Given the description of an element on the screen output the (x, y) to click on. 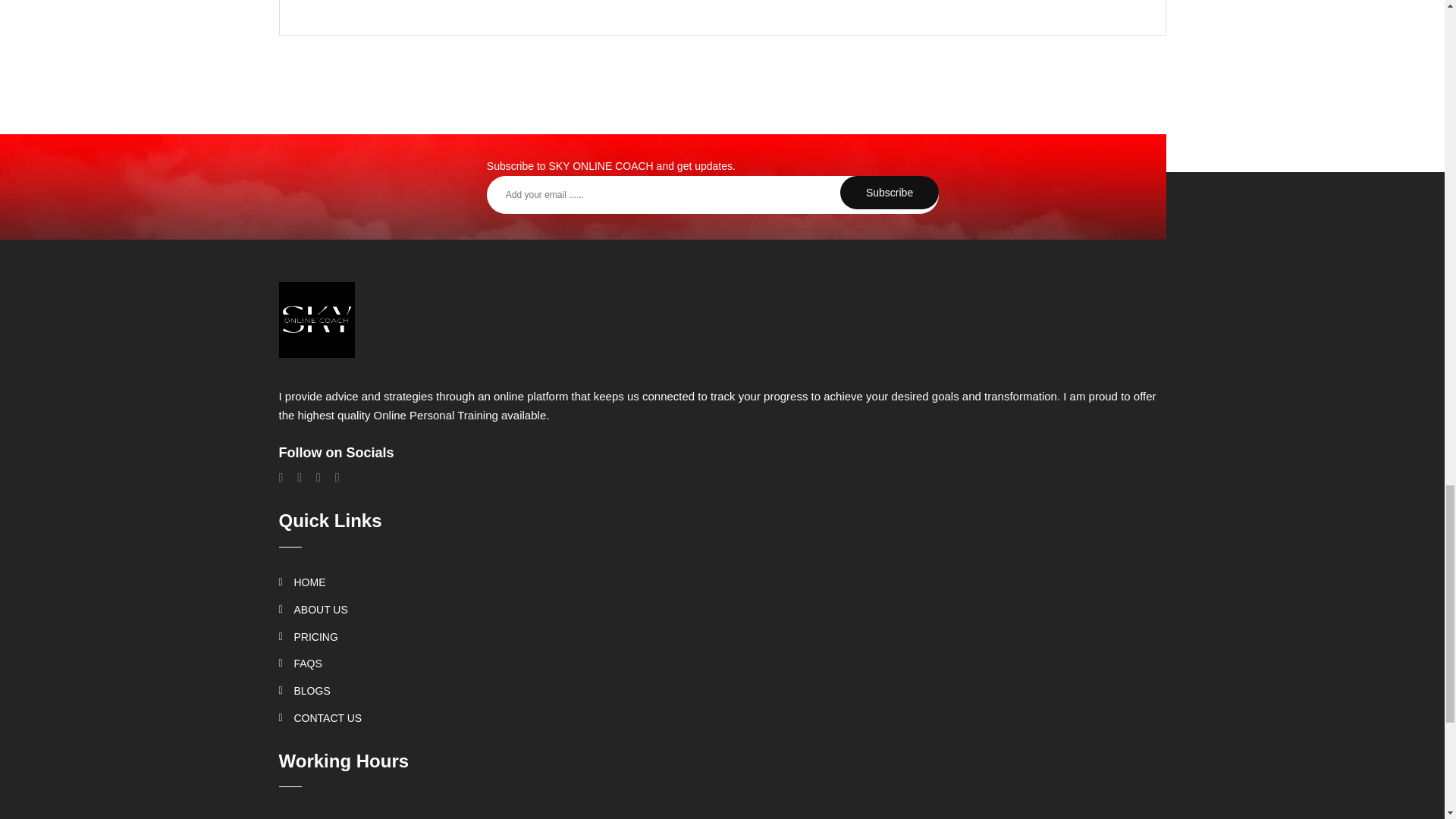
Subscribe (889, 192)
CONTACT US (320, 717)
BLOGS (304, 690)
FAQS (300, 663)
HOME (302, 582)
ABOUT US (313, 609)
PRICING (308, 636)
